Given the description of an element on the screen output the (x, y) to click on. 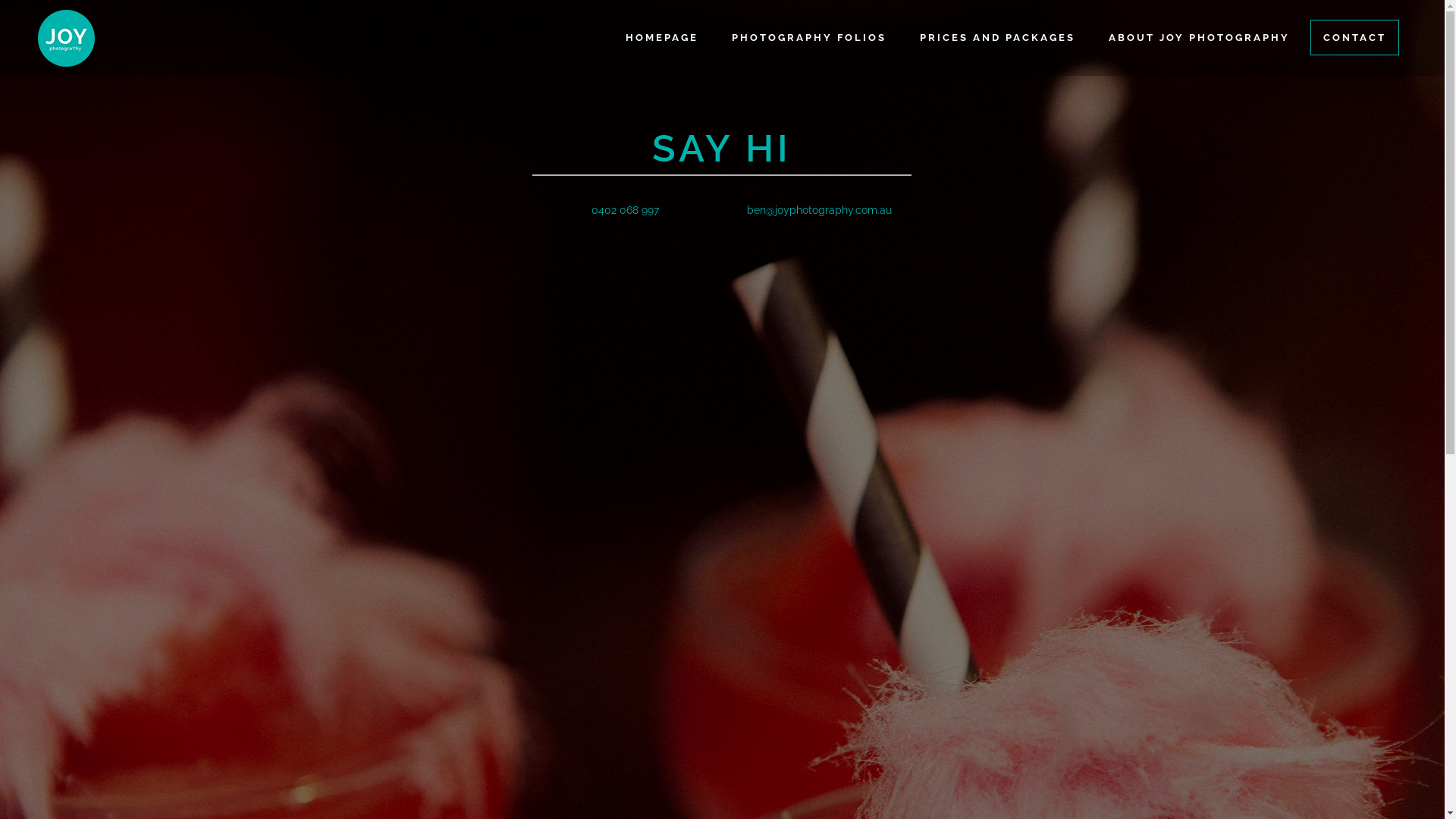
PHOTOGRAPHY FOLIOS Element type: text (808, 37)
ABOUT JOY PHOTOGRAPHY Element type: text (1198, 37)
CONTACT Element type: text (1354, 37)
HOMEPAGE Element type: text (661, 37)
PRICES AND PACKAGES Element type: text (997, 37)
